Given the description of an element on the screen output the (x, y) to click on. 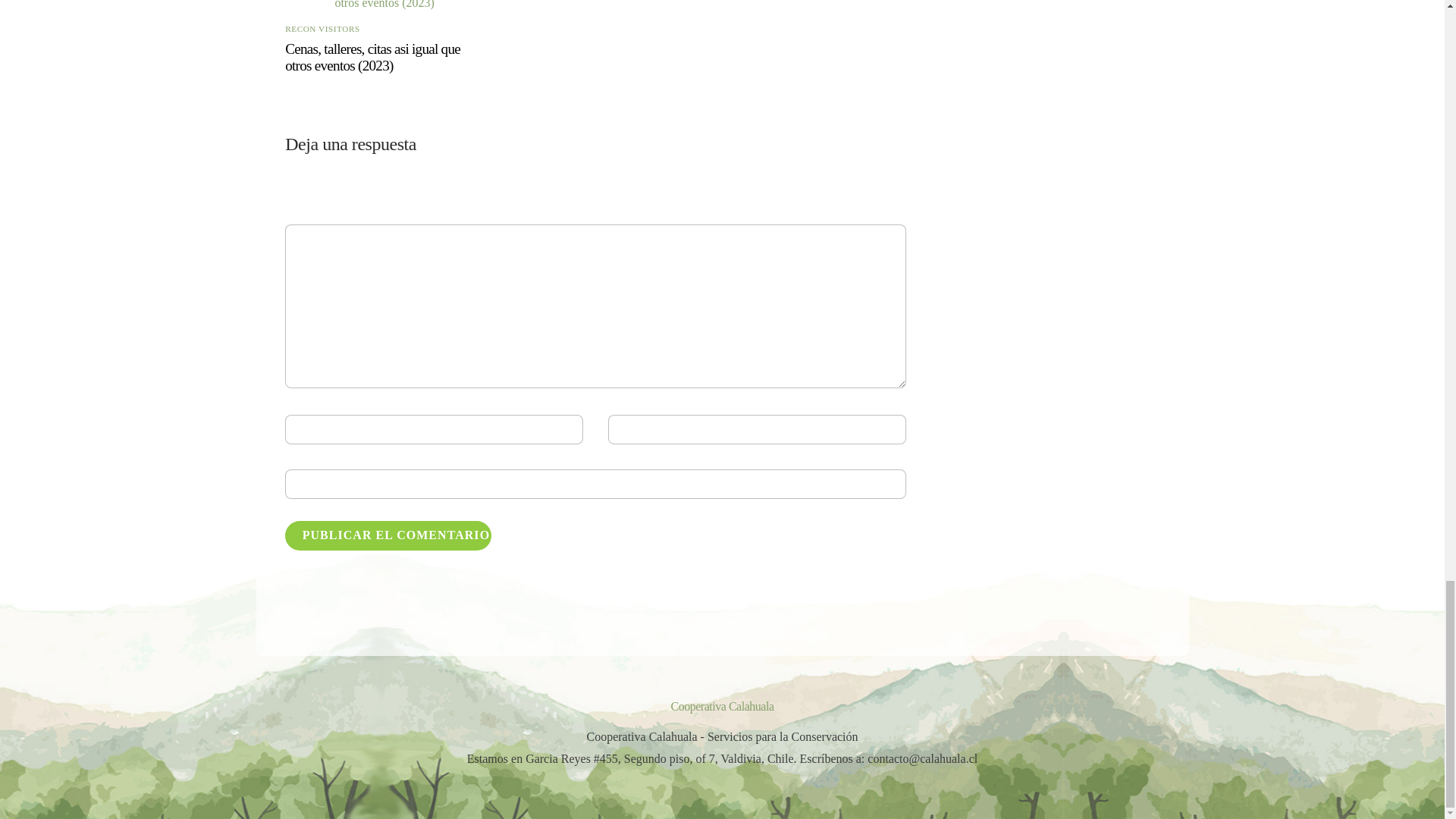
RECON VISITORS (322, 28)
Cooperativa Calahuala (721, 706)
Cooperativa Calahuala (721, 706)
Publicar el comentario (388, 535)
Publicar el comentario (388, 535)
